Given the description of an element on the screen output the (x, y) to click on. 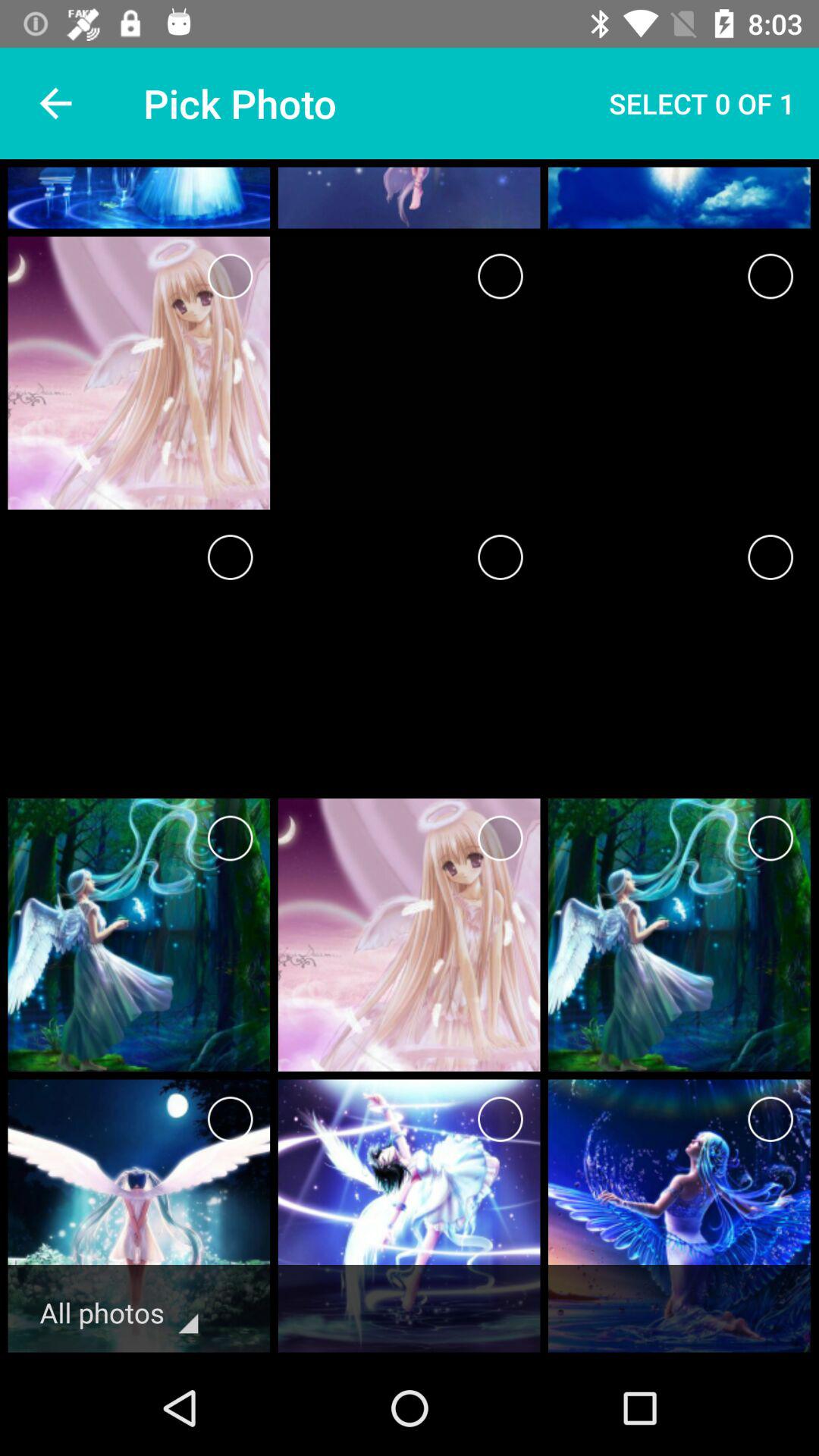
delete this one picture (500, 838)
